Given the description of an element on the screen output the (x, y) to click on. 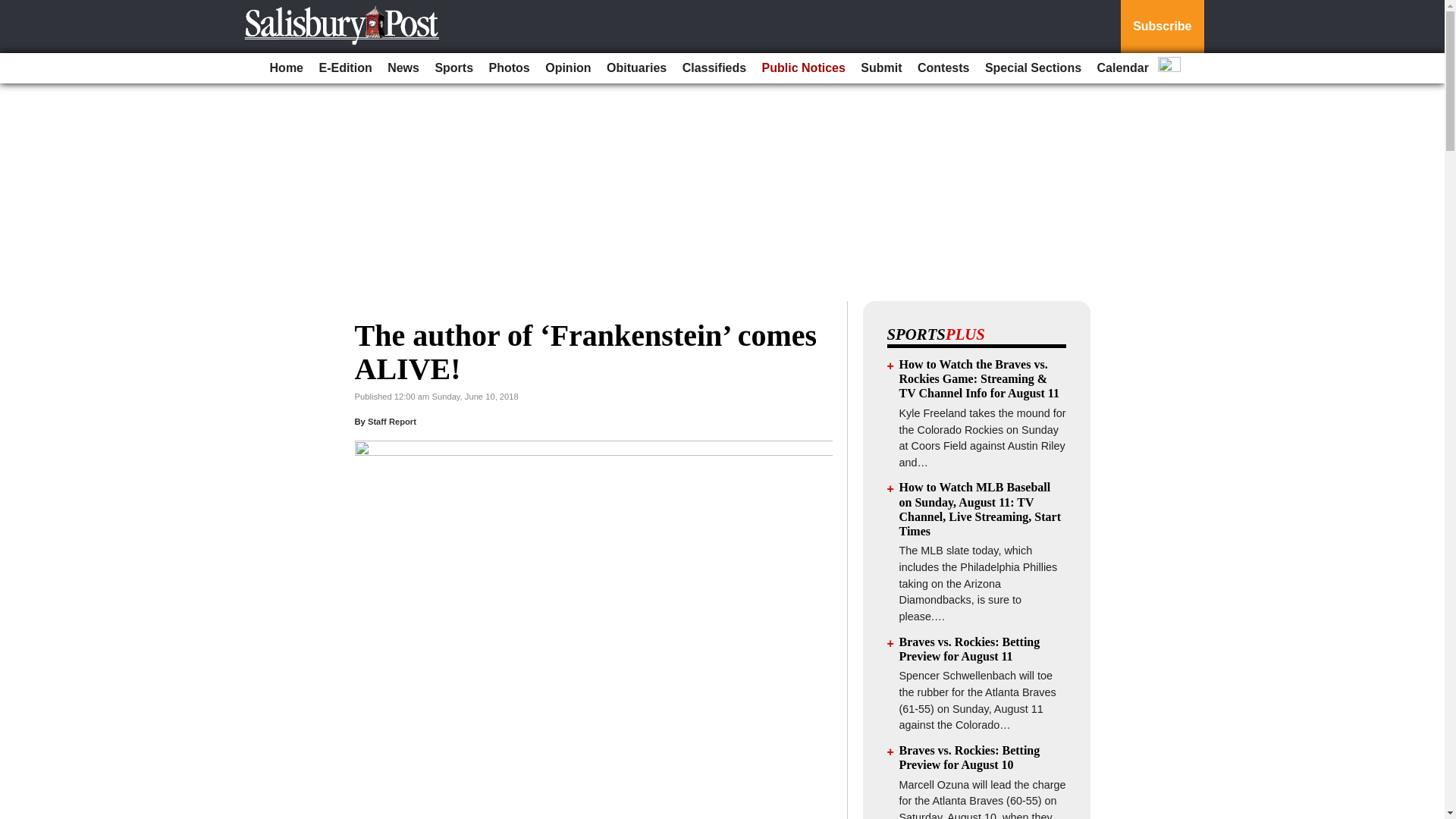
Home (285, 68)
Photos (509, 68)
Opinion (567, 68)
Submit (880, 68)
Special Sections (1032, 68)
Sports (453, 68)
Obituaries (635, 68)
E-Edition (345, 68)
News (403, 68)
Classifieds (714, 68)
